Given the description of an element on the screen output the (x, y) to click on. 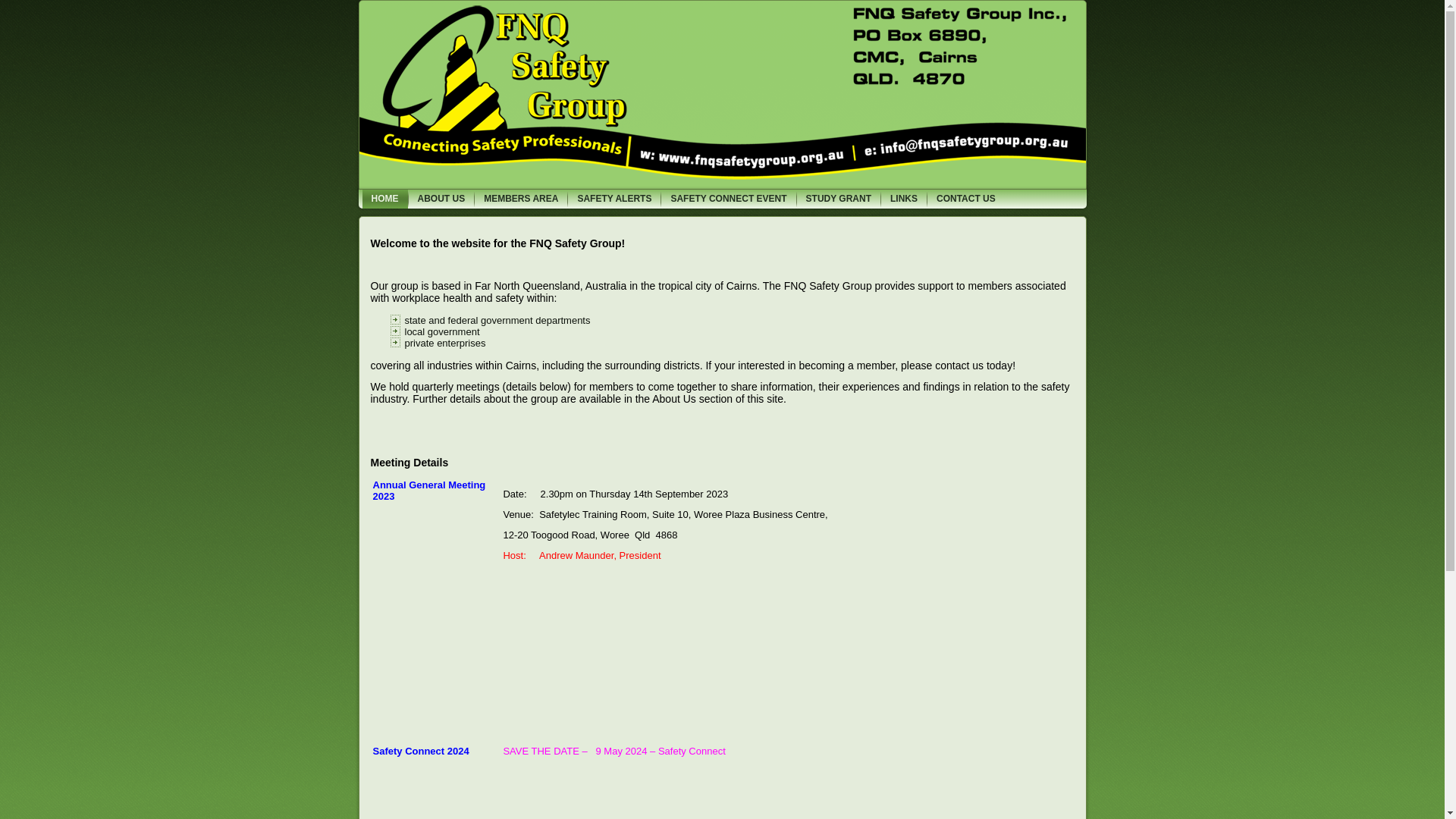
HOME Element type: text (384, 198)
STUDY GRANT Element type: text (838, 198)
MEMBERS AREA Element type: text (520, 198)
SAFETY ALERTS Element type: text (613, 198)
SAFETY CONNECT EVENT Element type: text (728, 198)
ABOUT US Element type: text (440, 198)
CONTACT US Element type: text (965, 198)
LINKS Element type: text (903, 198)
